Given the description of an element on the screen output the (x, y) to click on. 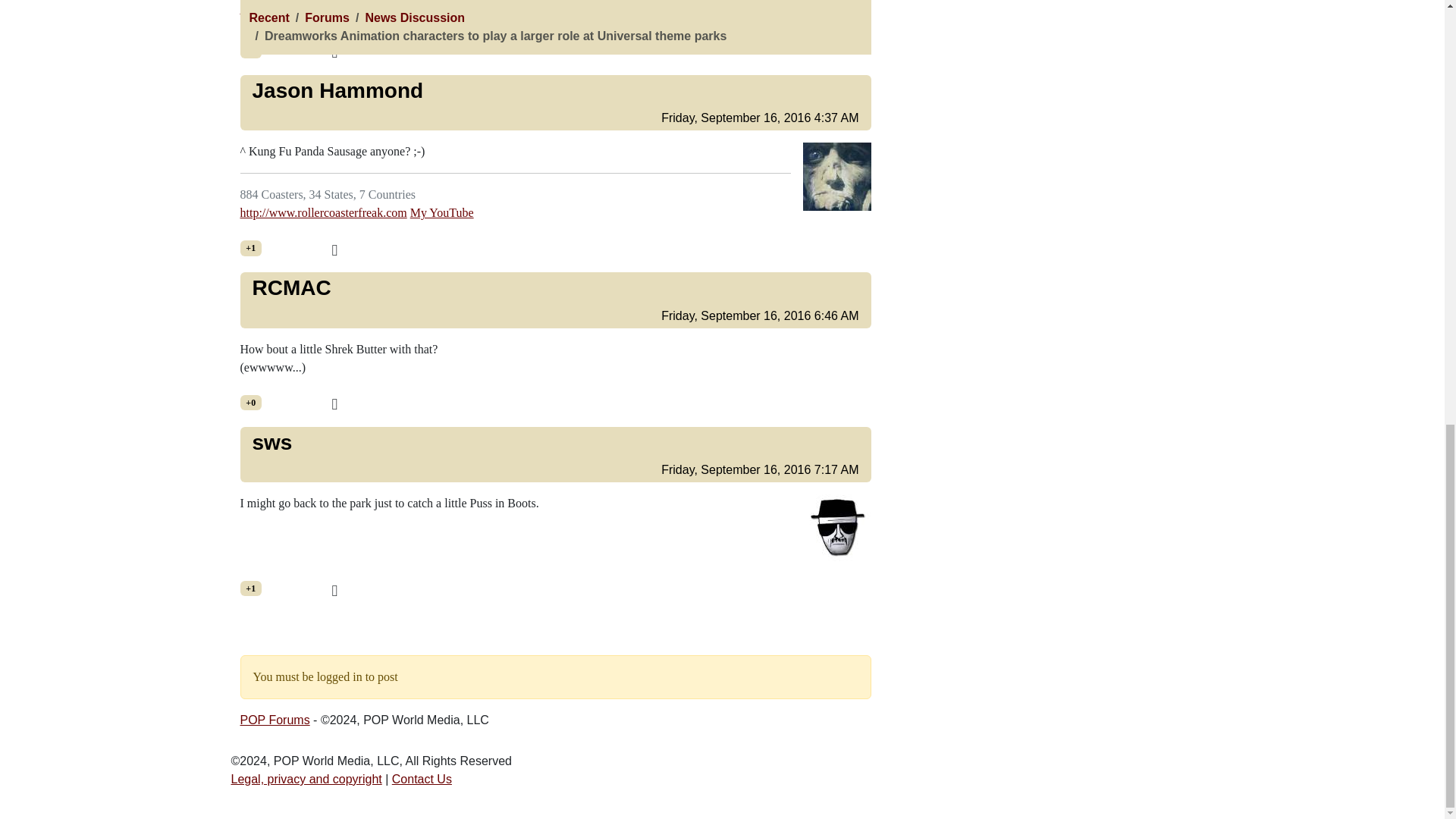
Instagram (264, 8)
